Given the description of an element on the screen output the (x, y) to click on. 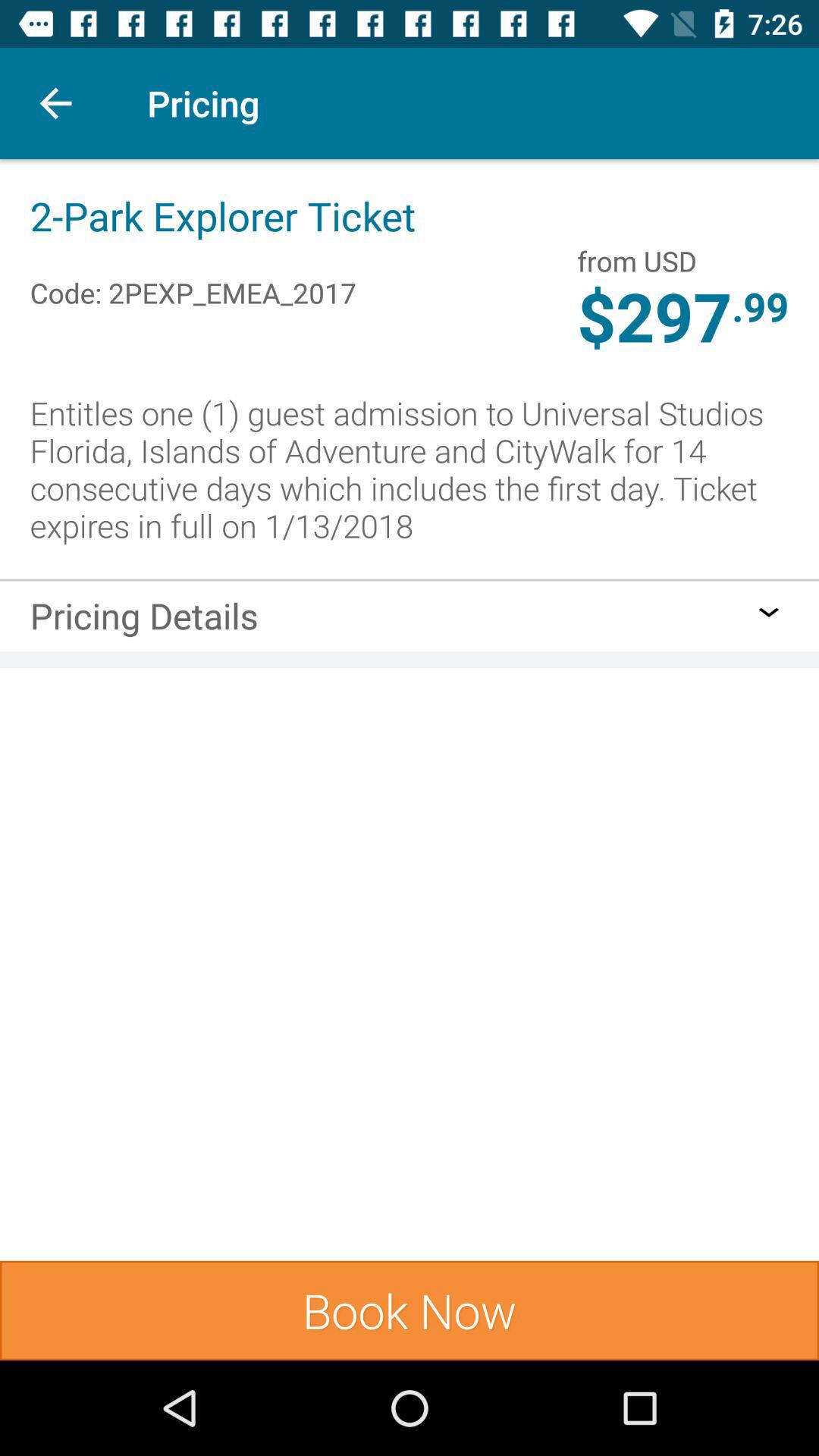
press item to the left of .99 item (636, 260)
